Given the description of an element on the screen output the (x, y) to click on. 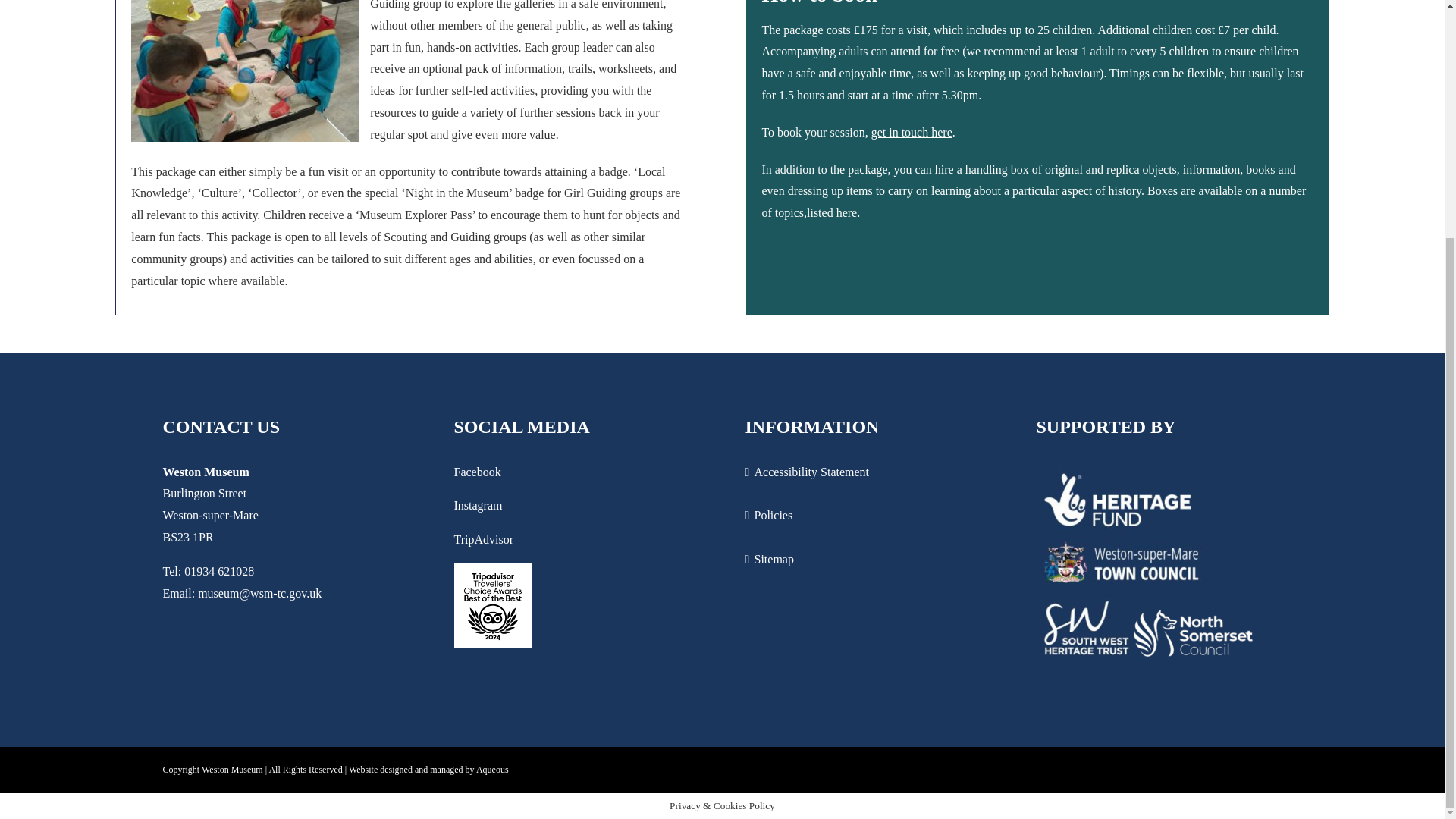
01934 621028 (218, 571)
Supported by (1149, 575)
listed here (831, 212)
get in touch here (911, 132)
